Given the description of an element on the screen output the (x, y) to click on. 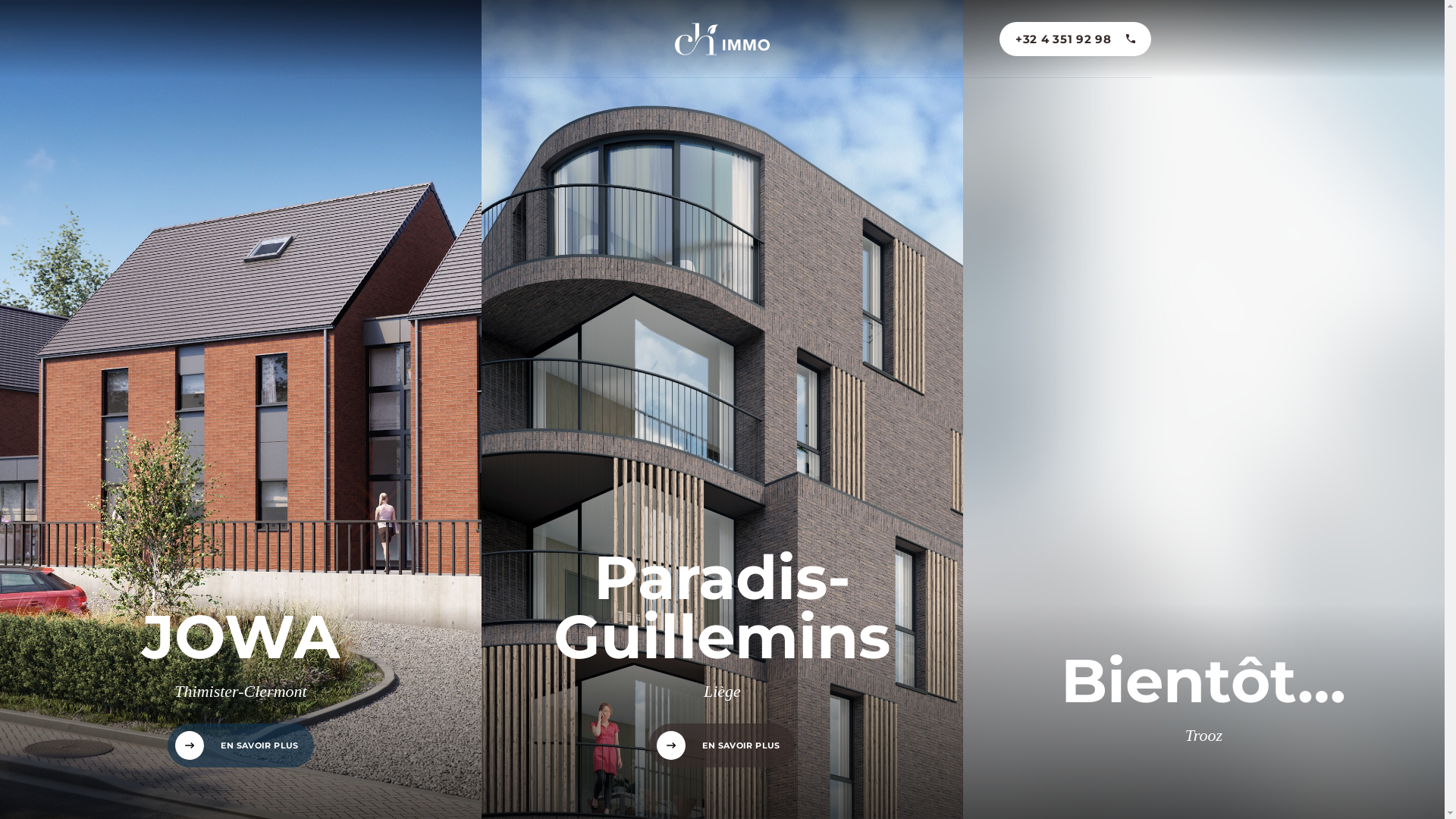
+32 4 351 92 98 Element type: text (1075, 38)
